Given the description of an element on the screen output the (x, y) to click on. 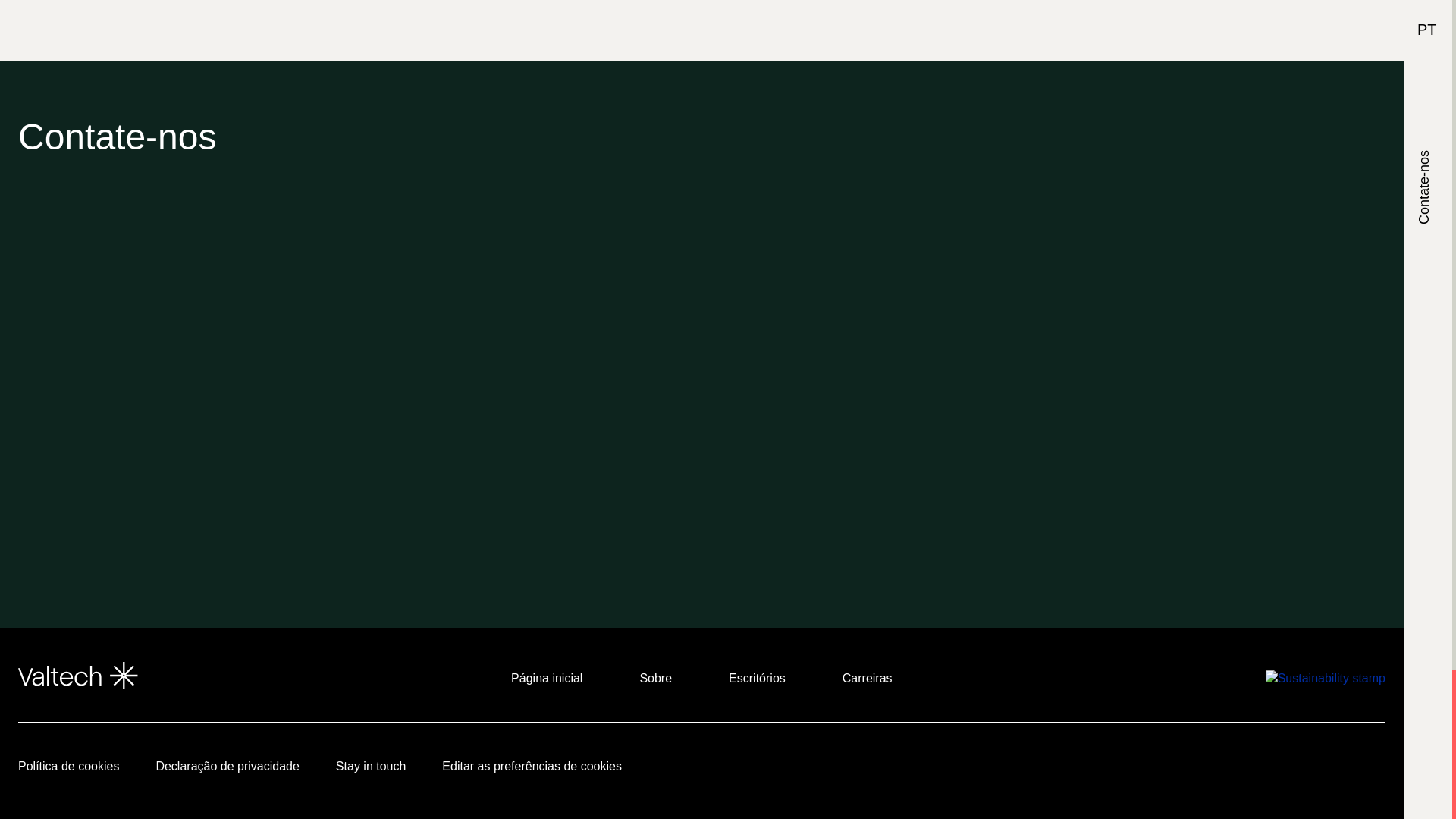
LinkedIn (1101, 770)
Valtech Logo (77, 675)
Google Podcasts (1227, 770)
Sound Cloud (1310, 770)
Sustainability stamp link (1325, 677)
Twitter (1184, 770)
Spotify (1269, 770)
Instagram (1144, 770)
Apple Podcasts (1352, 770)
YouTube (1059, 770)
